Given the description of an element on the screen output the (x, y) to click on. 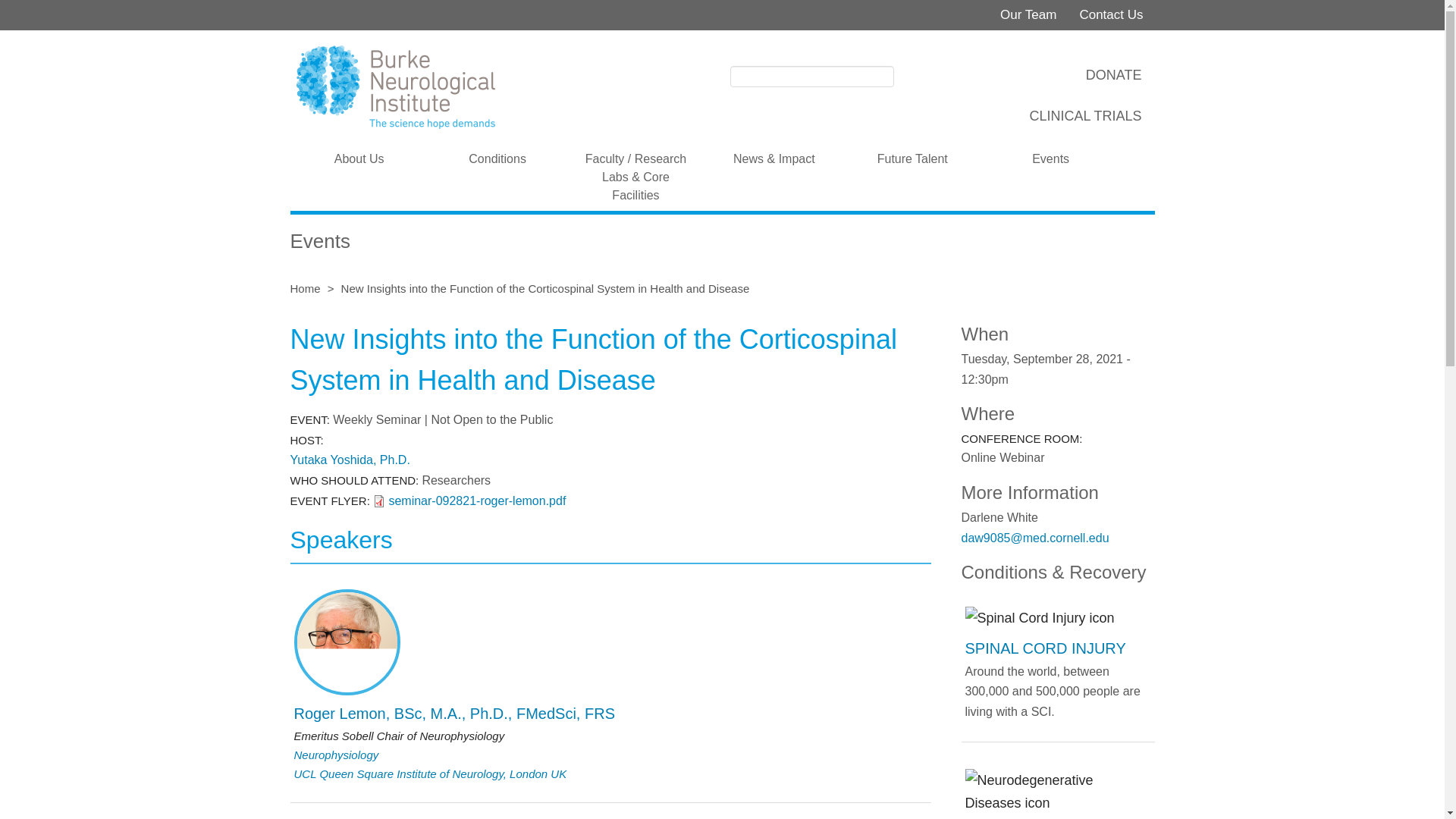
Events (1050, 158)
DONATE (1112, 71)
Our Team (1027, 15)
Search (906, 74)
About Us (359, 158)
Future Talent (912, 158)
CLINICAL TRIALS (1083, 112)
Conditions (496, 158)
Search (906, 74)
Enter the terms you wish to search for. (811, 76)
